Given the description of an element on the screen output the (x, y) to click on. 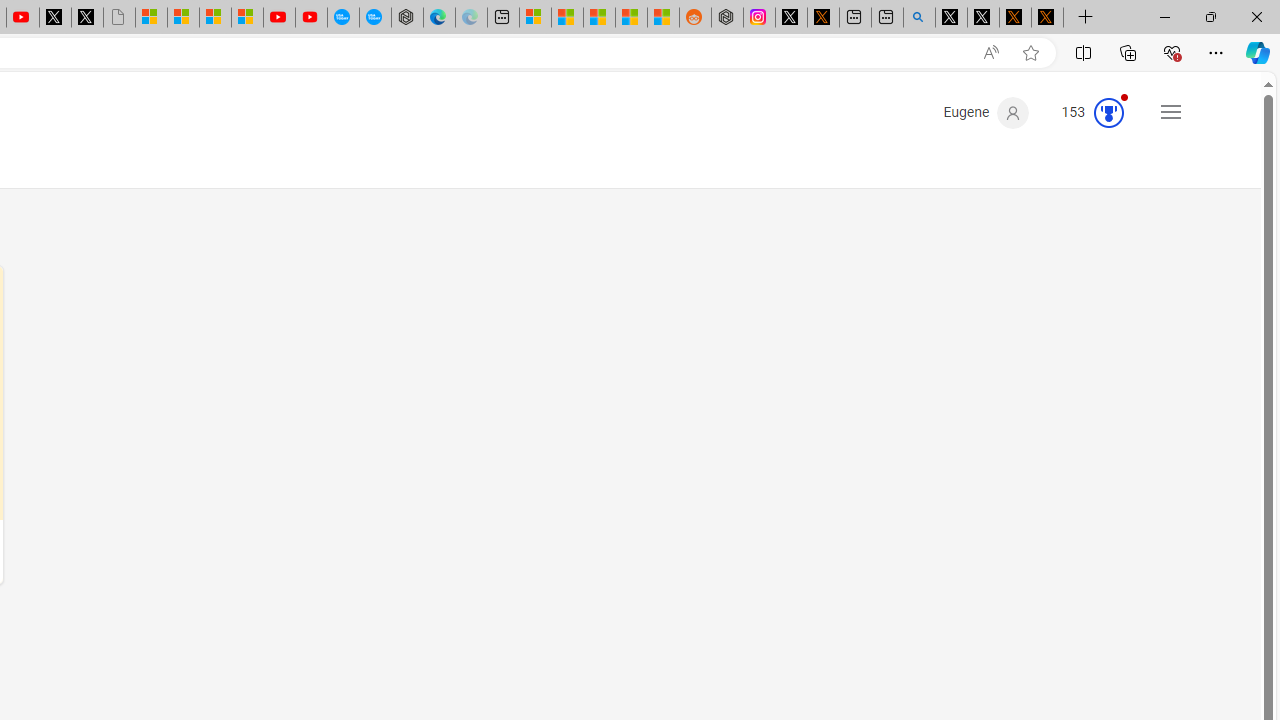
X Privacy Policy (1047, 17)
Eugene (986, 112)
Untitled (118, 17)
Profile / X (950, 17)
